Given the description of an element on the screen output the (x, y) to click on. 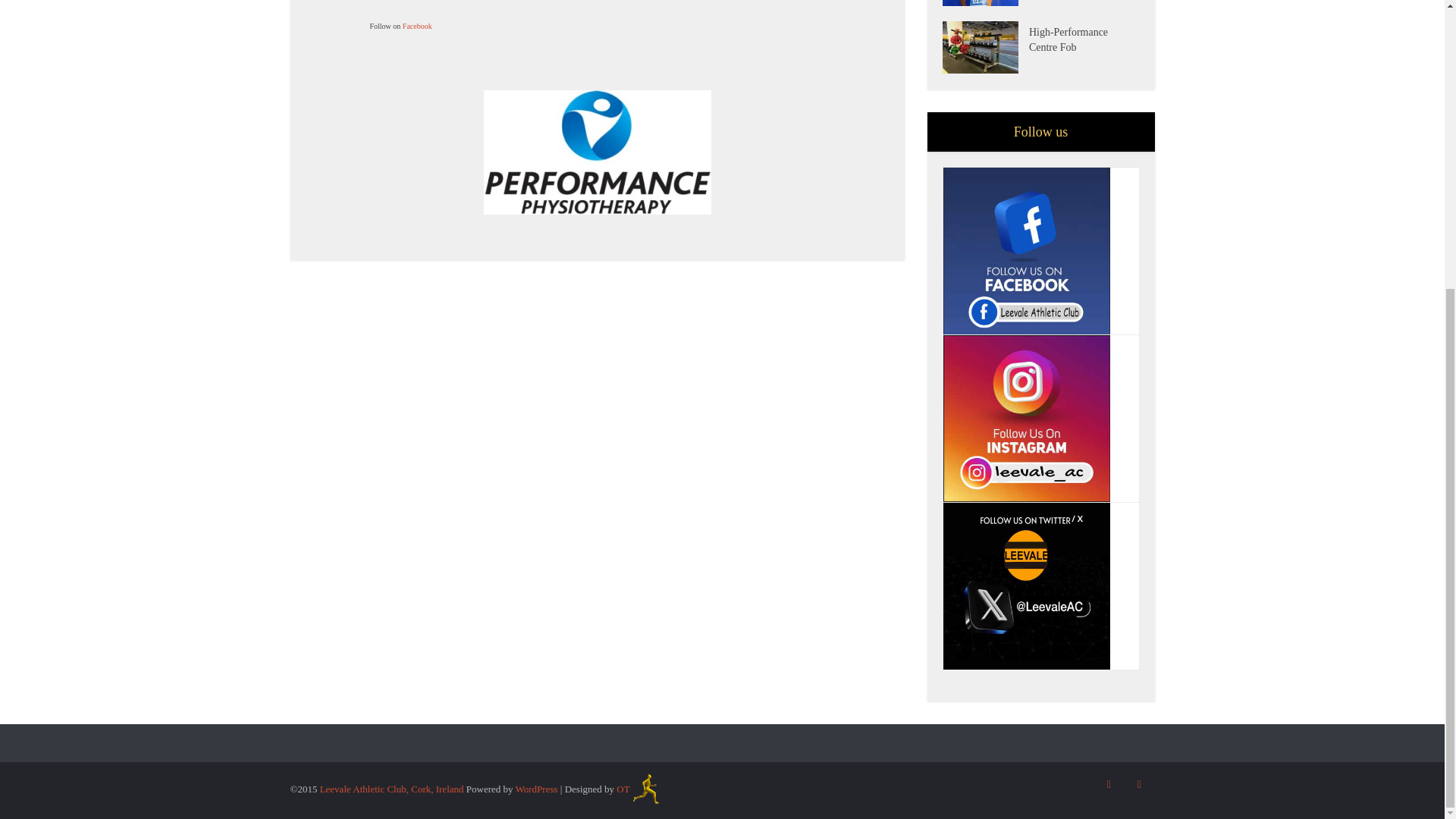
High-Performance Centre Fob (1084, 38)
High-Performance Centre Fob (984, 47)
Membership 2024 (984, 2)
Wordpress CMS (536, 788)
